Given the description of an element on the screen output the (x, y) to click on. 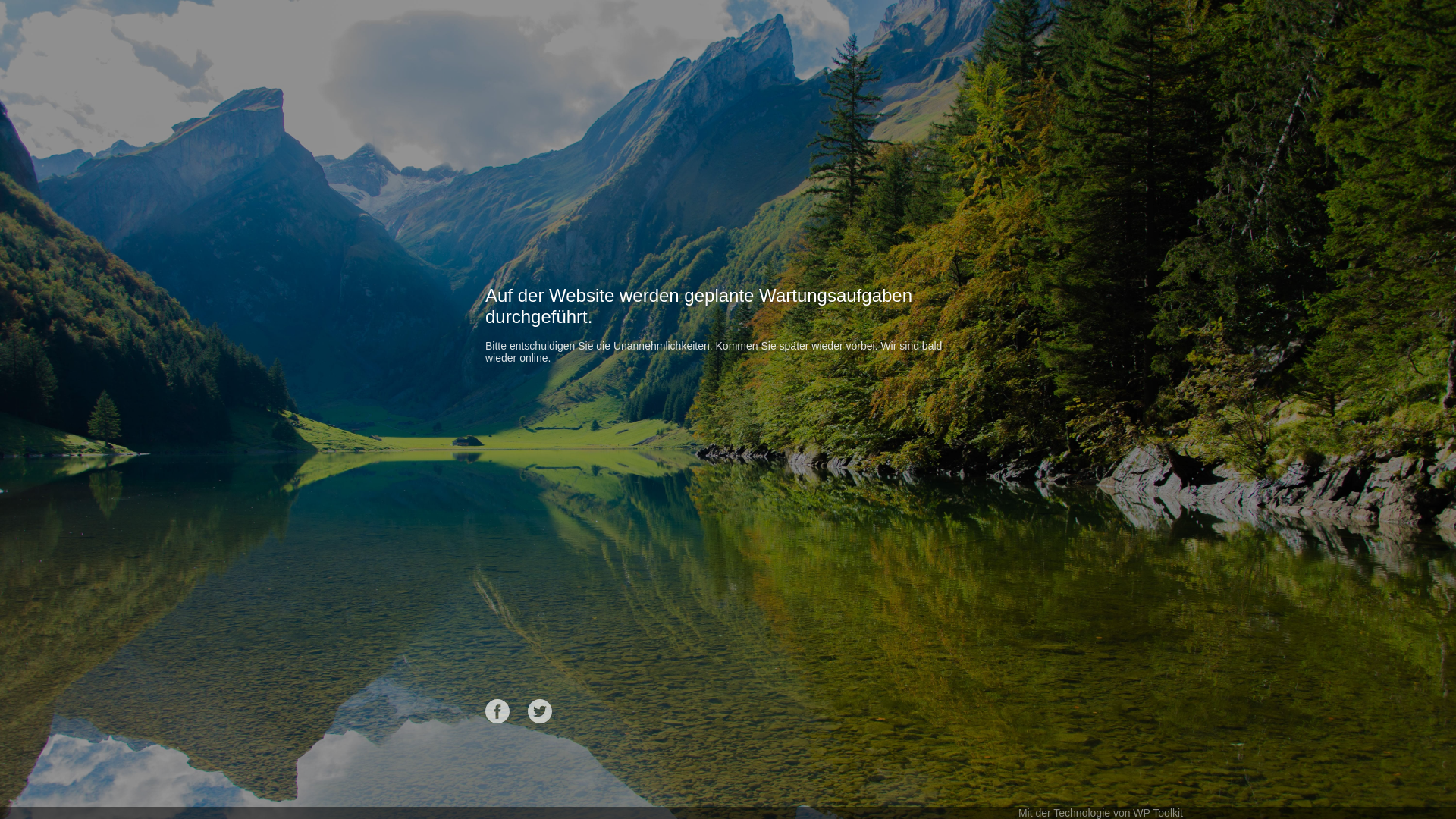
Twitter Element type: hover (539, 711)
Facebook Element type: hover (497, 711)
